Given the description of an element on the screen output the (x, y) to click on. 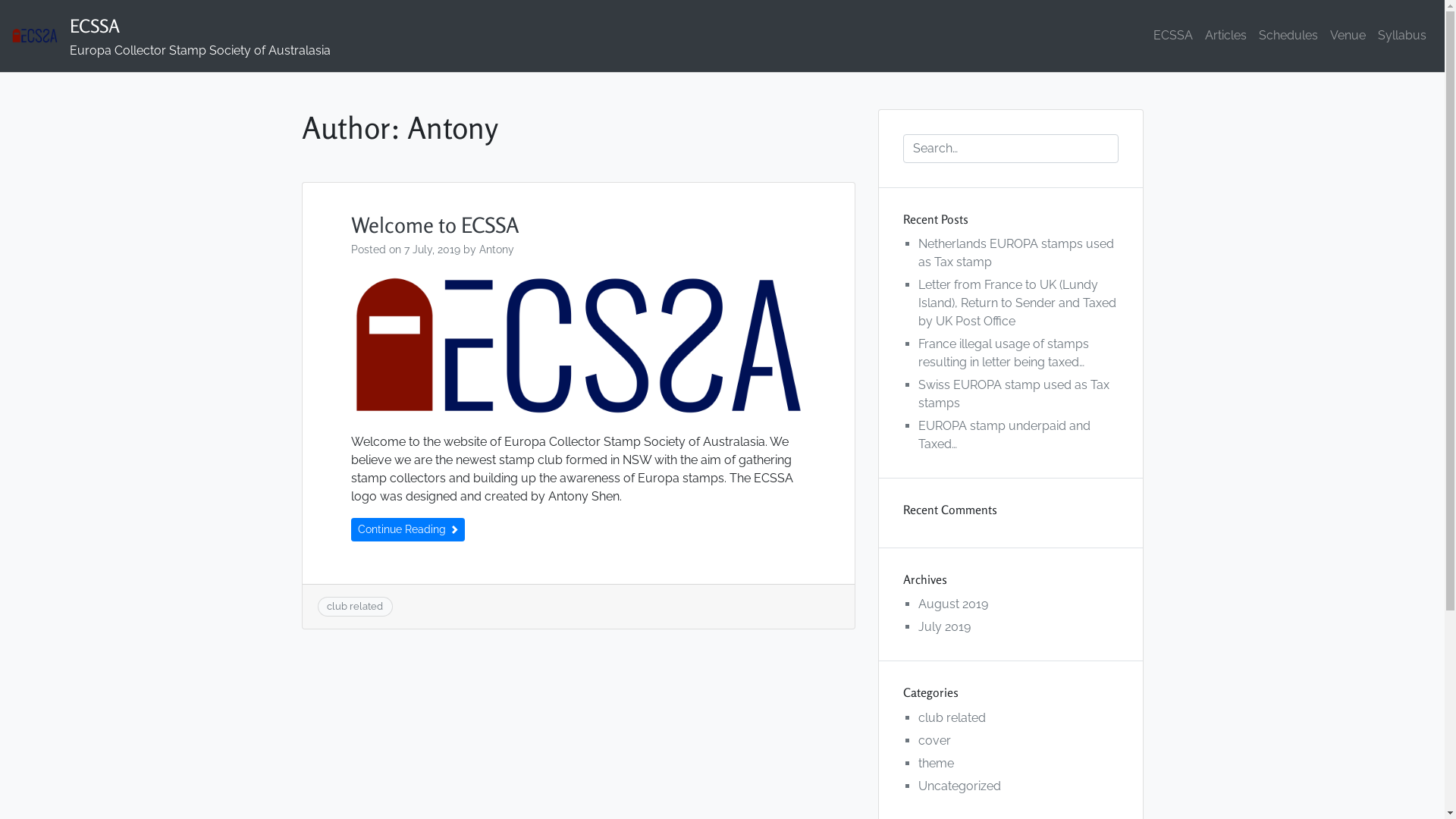
theme Element type: text (935, 763)
Schedules Element type: text (1288, 35)
Uncategorized Element type: text (958, 785)
ECSSA Element type: text (1172, 35)
7 July, 2019 Element type: text (431, 248)
Netherlands EUROPA stamps used as Tax stamp Element type: text (1015, 252)
Antony Element type: text (496, 248)
August 2019 Element type: text (952, 603)
July 2019 Element type: text (943, 626)
club related Element type: text (354, 605)
Welcome to ECSSA Element type: text (434, 225)
club related Element type: text (951, 717)
Venue Element type: text (1347, 35)
cover Element type: text (933, 740)
ECSSA Element type: text (94, 26)
Continue Reading Element type: text (407, 529)
Articles Element type: text (1225, 35)
Swiss EUROPA stamp used as Tax stamps Element type: text (1012, 393)
Syllabus Element type: text (1401, 35)
